Given the description of an element on the screen output the (x, y) to click on. 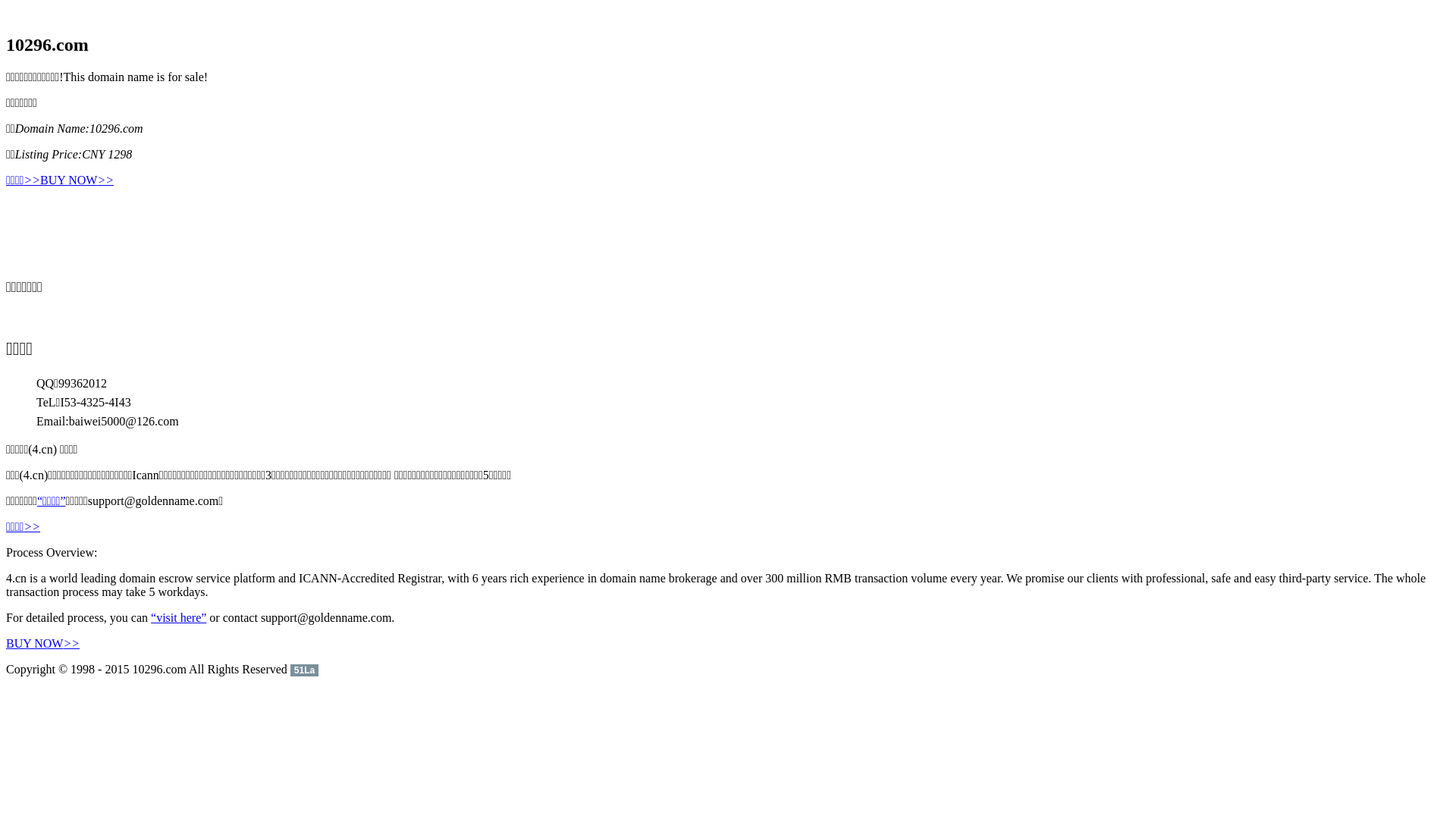
BUY NOW>> Element type: text (42, 643)
51La Element type: text (304, 668)
BUY NOW>> Element type: text (76, 180)
